Given the description of an element on the screen output the (x, y) to click on. 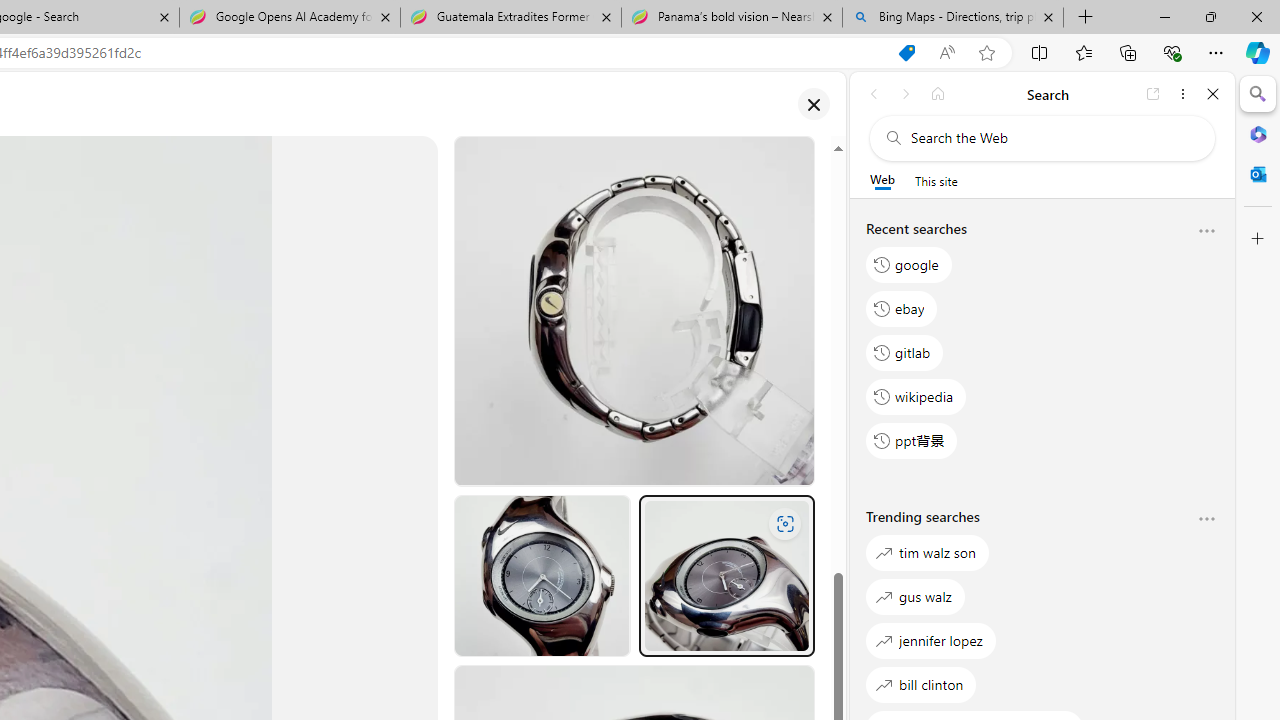
You have the best price! Shopping in Microsoft Edge (906, 53)
Close image gallery dialog (813, 103)
tim walz son (927, 552)
bill clinton (921, 684)
Google Opens AI Academy for Startups - Nearshore Americas (290, 17)
